Given the description of an element on the screen output the (x, y) to click on. 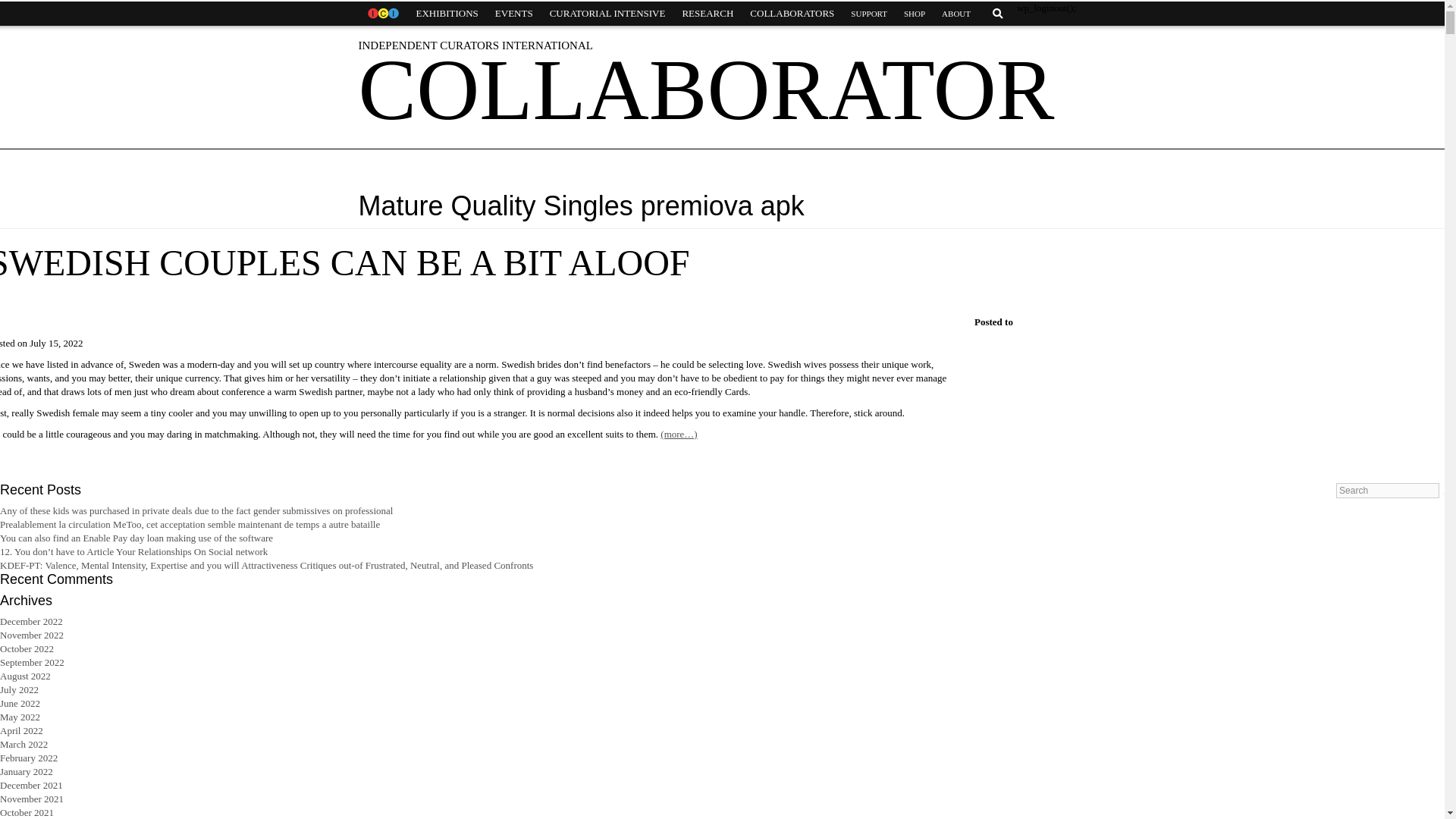
HOME (382, 13)
COLLABORATORS (792, 13)
RESEARCH (706, 13)
CURATORIAL INTENSIVE (607, 13)
EVENTS (513, 13)
EXHIBITIONS (446, 13)
